Given the description of an element on the screen output the (x, y) to click on. 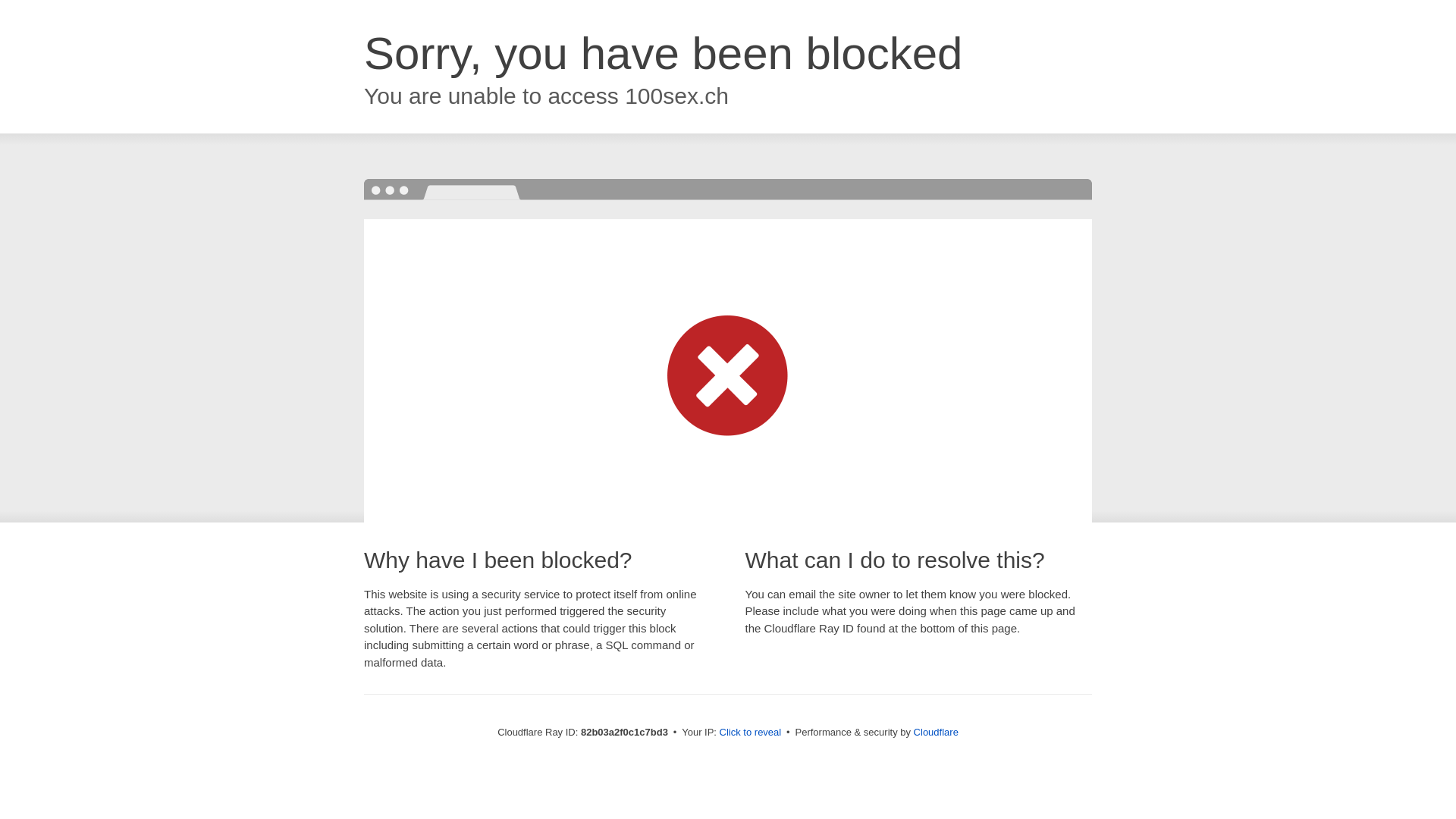
Cloudflare Element type: text (935, 731)
Click to reveal Element type: text (750, 732)
